Given the description of an element on the screen output the (x, y) to click on. 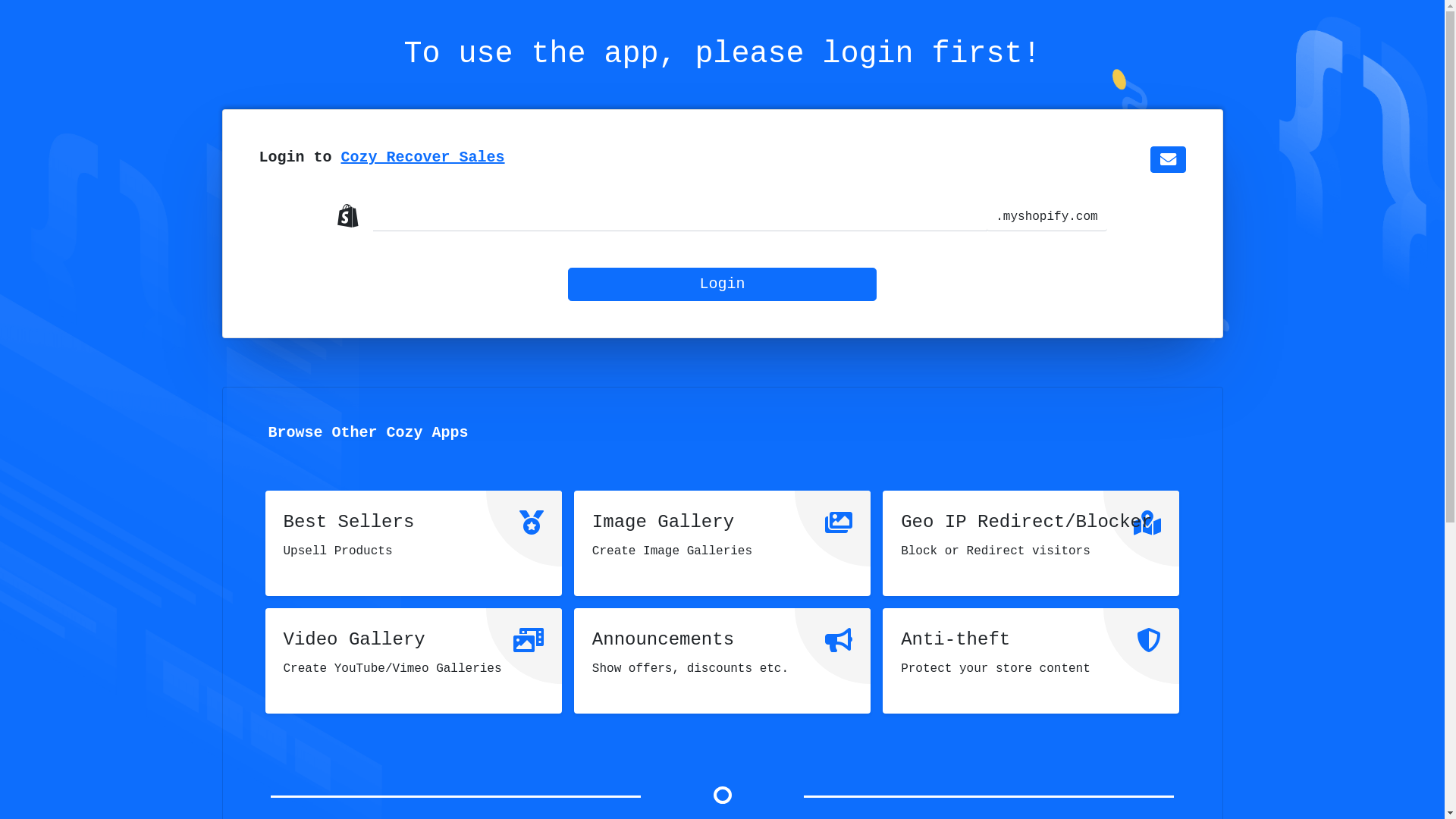
Best Sellers
Upsell Products Element type: text (413, 543)
Geo IP Redirect/Blocker
Block or Redirect visitors Element type: text (1030, 543)
Cozy Recover Sales Element type: text (423, 157)
Announcements
Show offers, discounts etc. Element type: text (722, 660)
Image Gallery
Create Image Galleries Element type: text (722, 543)
Video Gallery
Create YouTube/Vimeo Galleries Element type: text (413, 660)
Login Element type: text (721, 284)
Contact Us Element type: hover (1167, 159)
Anti-theft
Protect your store content Element type: text (1030, 660)
